Given the description of an element on the screen output the (x, y) to click on. 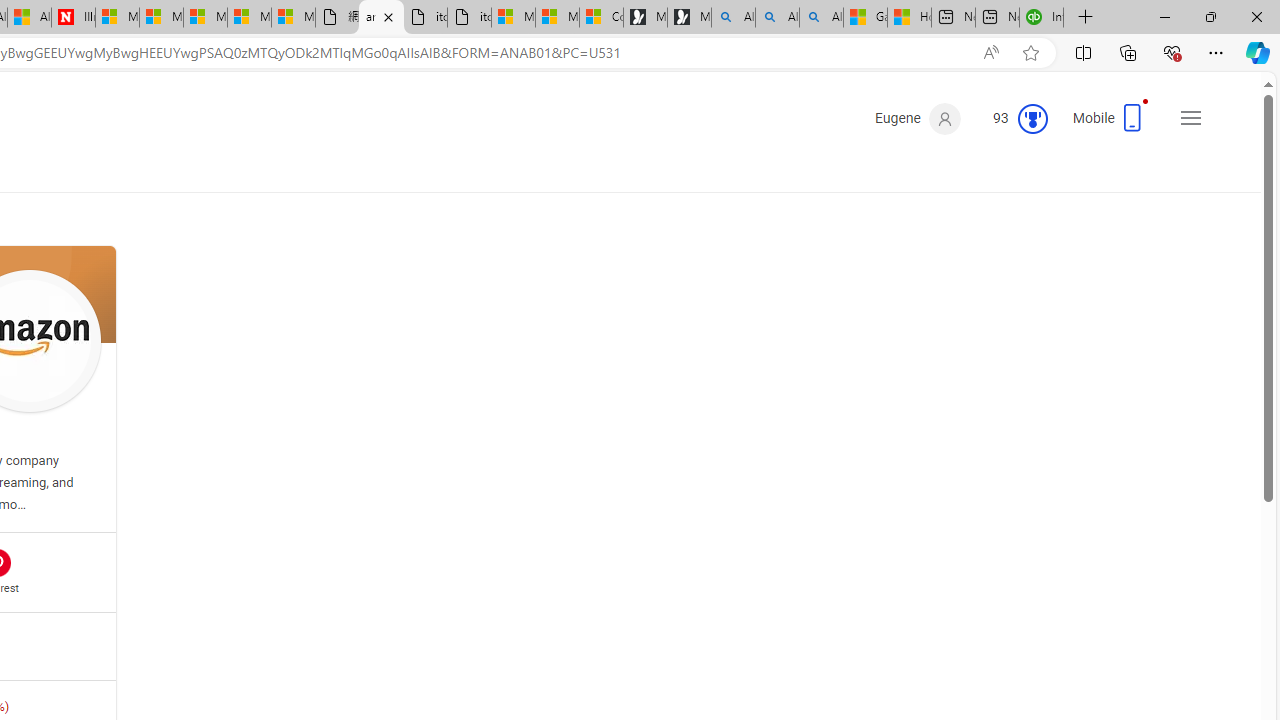
Eugene (918, 119)
